Given the description of an element on the screen output the (x, y) to click on. 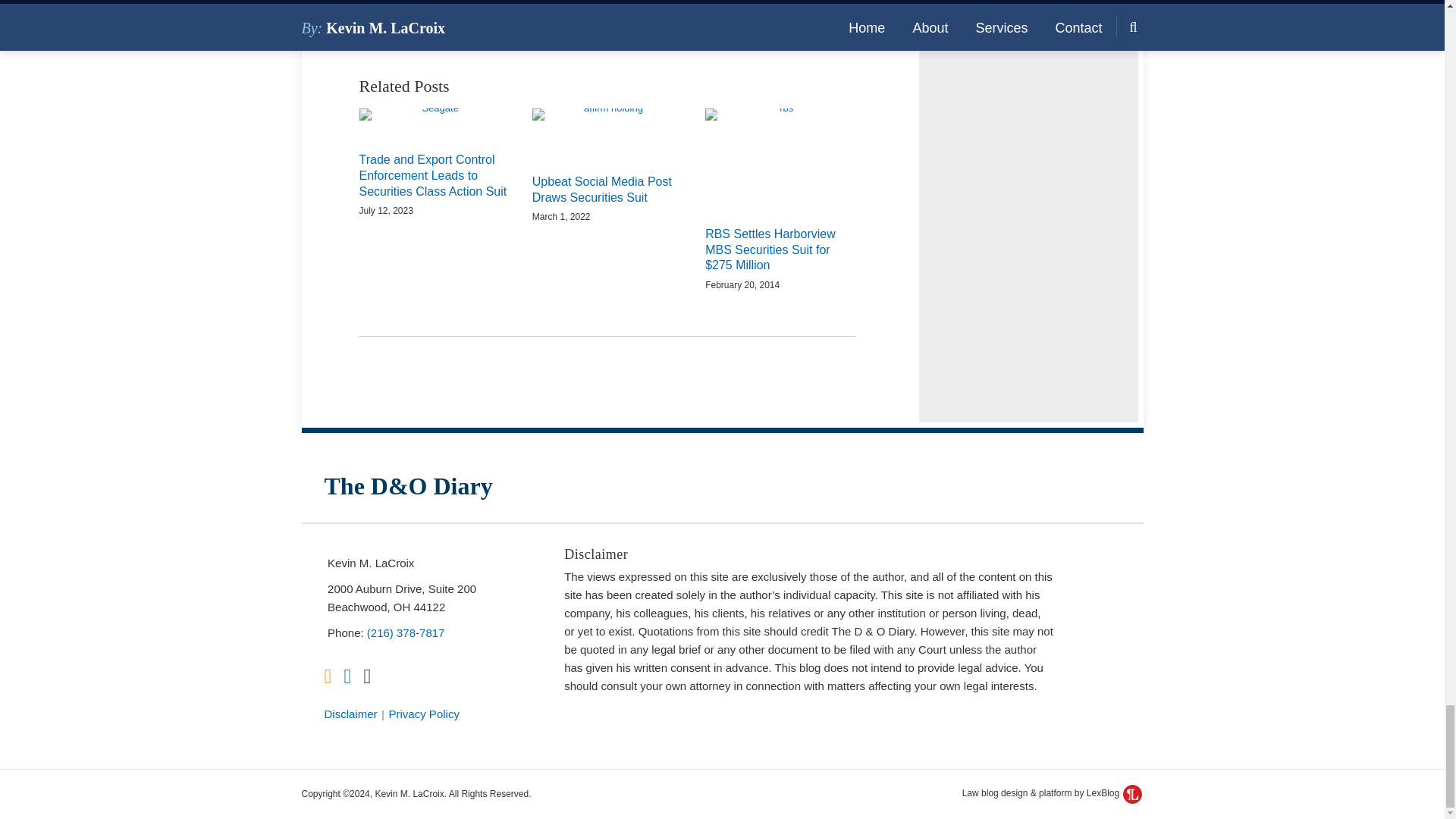
Upbeat Social Media Post Draws Securities Suit (607, 190)
LexBlog Logo (1131, 793)
